Given the description of an element on the screen output the (x, y) to click on. 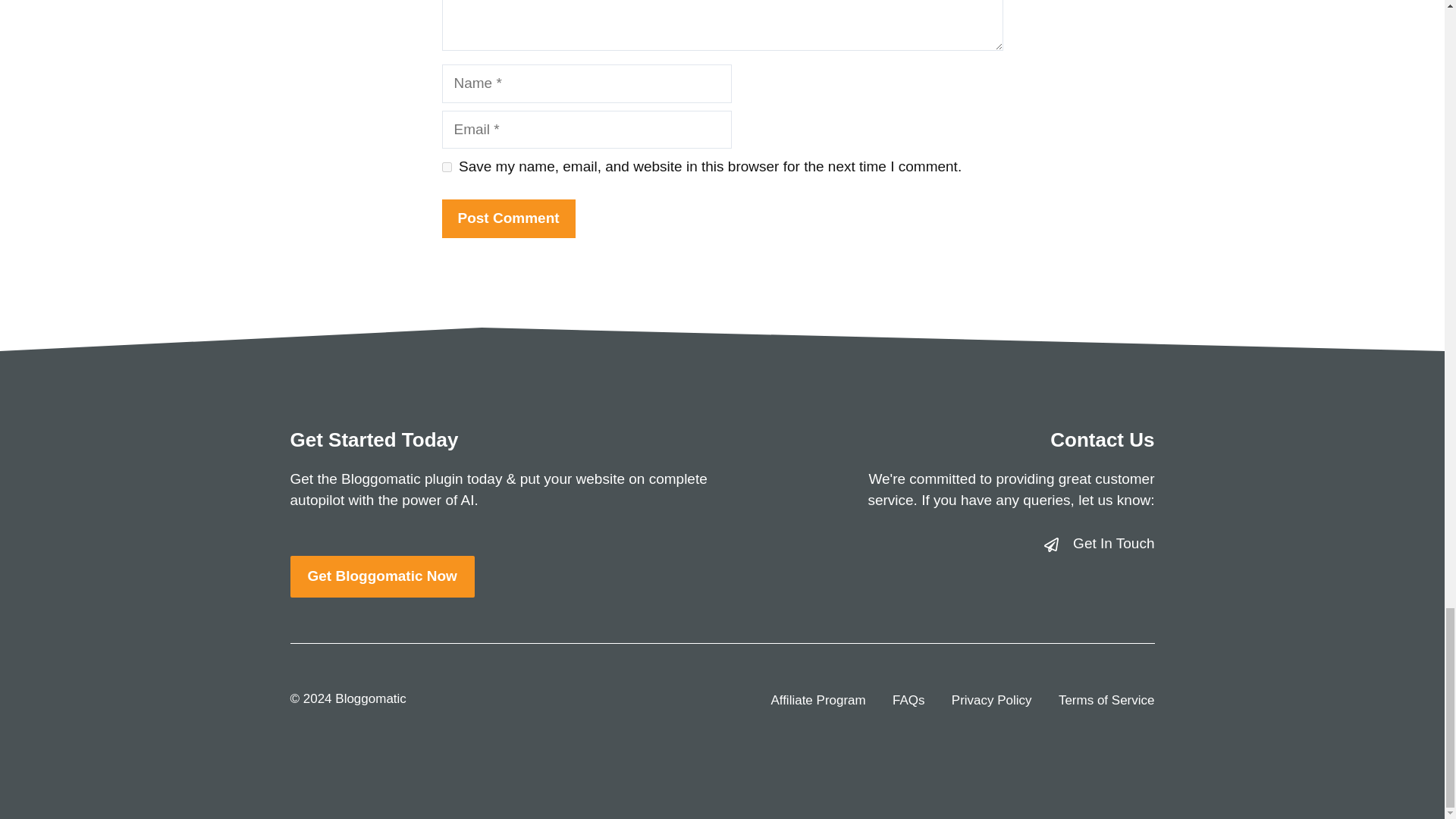
yes (446, 166)
Privacy Policy (992, 700)
FAQs (908, 700)
Get Bloggomatic Now (381, 576)
Post Comment (508, 218)
Terms of Service (1106, 700)
Post Comment (508, 218)
Affiliate Program (817, 700)
Get In Touch (1113, 543)
